Given the description of an element on the screen output the (x, y) to click on. 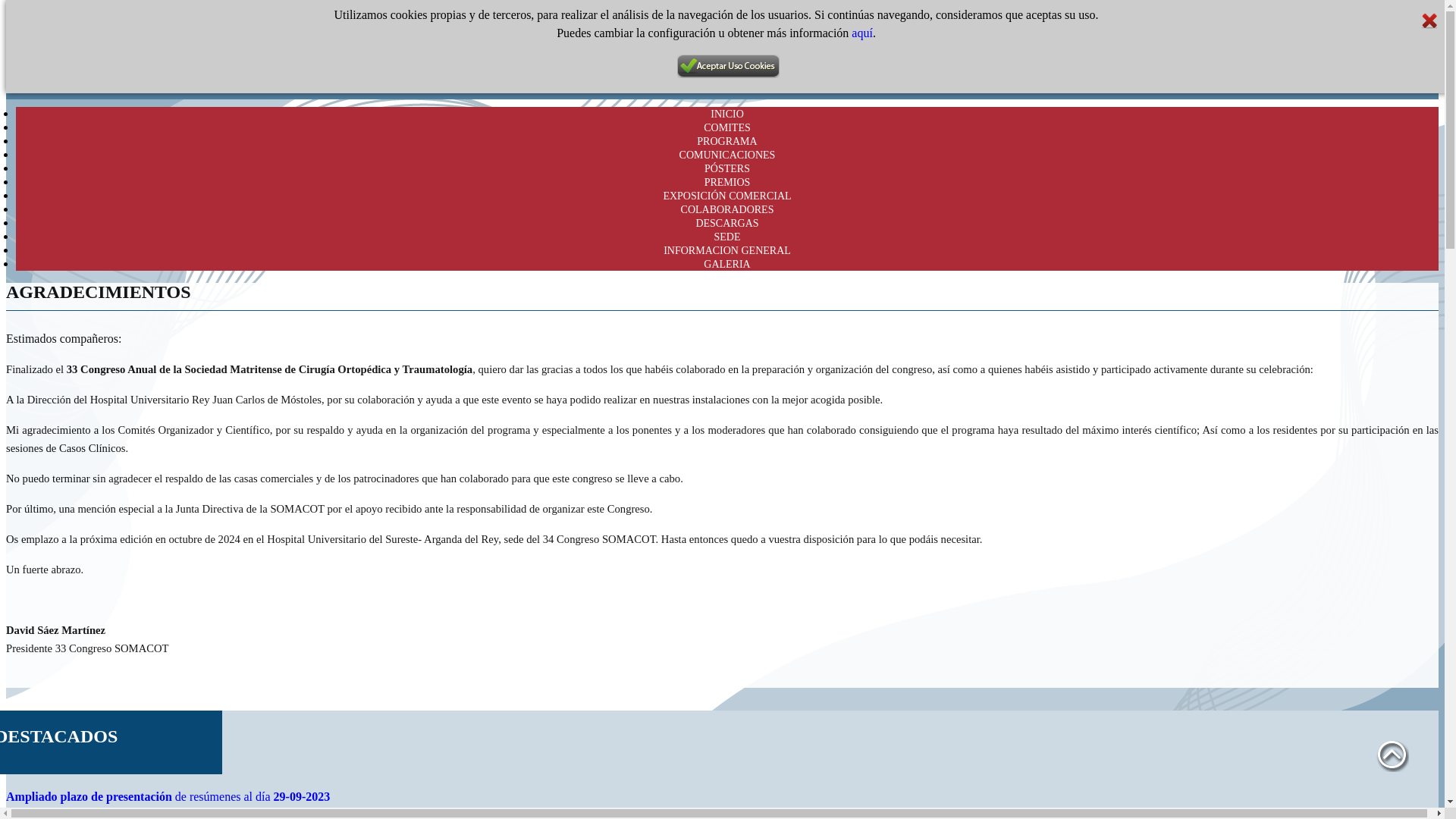
PREMIOS Element type: text (358, 61)
Aceptar uso de cookies Element type: hover (728, 66)
COMITES Element type: text (726, 127)
PROGRAMA Element type: text (726, 141)
SEDE Element type: text (975, 74)
PREMIOS Element type: text (727, 182)
COMUNICACIONES Element type: text (727, 154)
INSCRIPCIONES Element type: text (583, 61)
GALERIA Element type: text (726, 263)
SEDE Element type: text (727, 236)
COLABORADORES Element type: text (1238, 74)
DESCARGAS Element type: text (1027, 74)
INFORMACION GENERAL Element type: text (726, 250)
CONCURSO EQUIPOS HOSPITAL Element type: text (462, 61)
COLABORADORES Element type: text (727, 209)
INICIO Element type: text (726, 113)
SIMPOSIOS Element type: text (734, 61)
COMUNICACIONES Element type: text (282, 61)
Subir Element type: hover (1391, 754)
PONENTES Element type: text (137, 61)
PROGRAMA Element type: text (200, 61)
DESCARGAS Element type: text (726, 223)
GALERIA Element type: text (791, 61)
Cerrar Element type: hover (1429, 21)
